Given the description of an element on the screen output the (x, y) to click on. 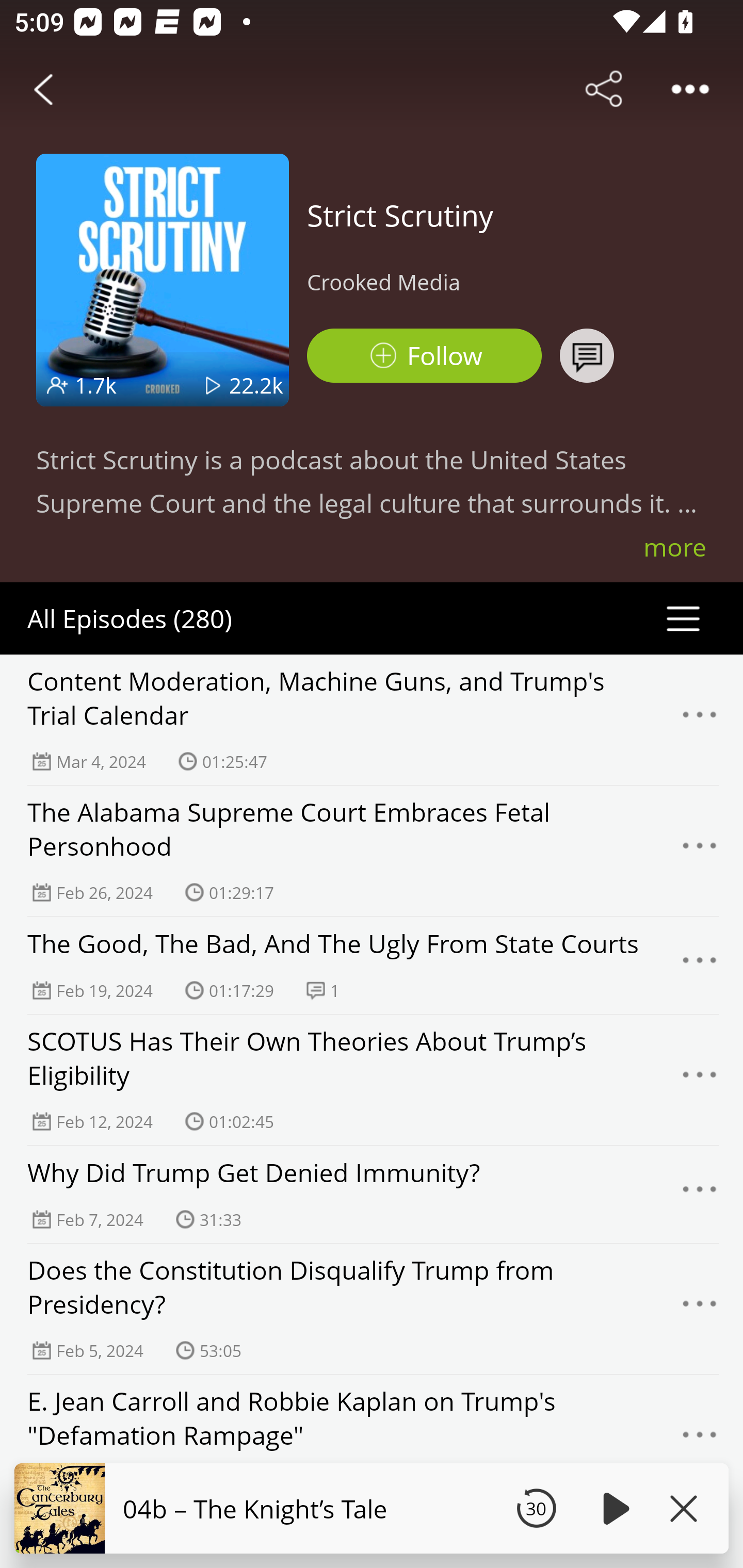
Back (43, 88)
Podbean Follow (423, 355)
1.7k (95, 384)
more (674, 546)
Play (613, 1507)
30 Seek Backward (536, 1508)
